Given the description of an element on the screen output the (x, y) to click on. 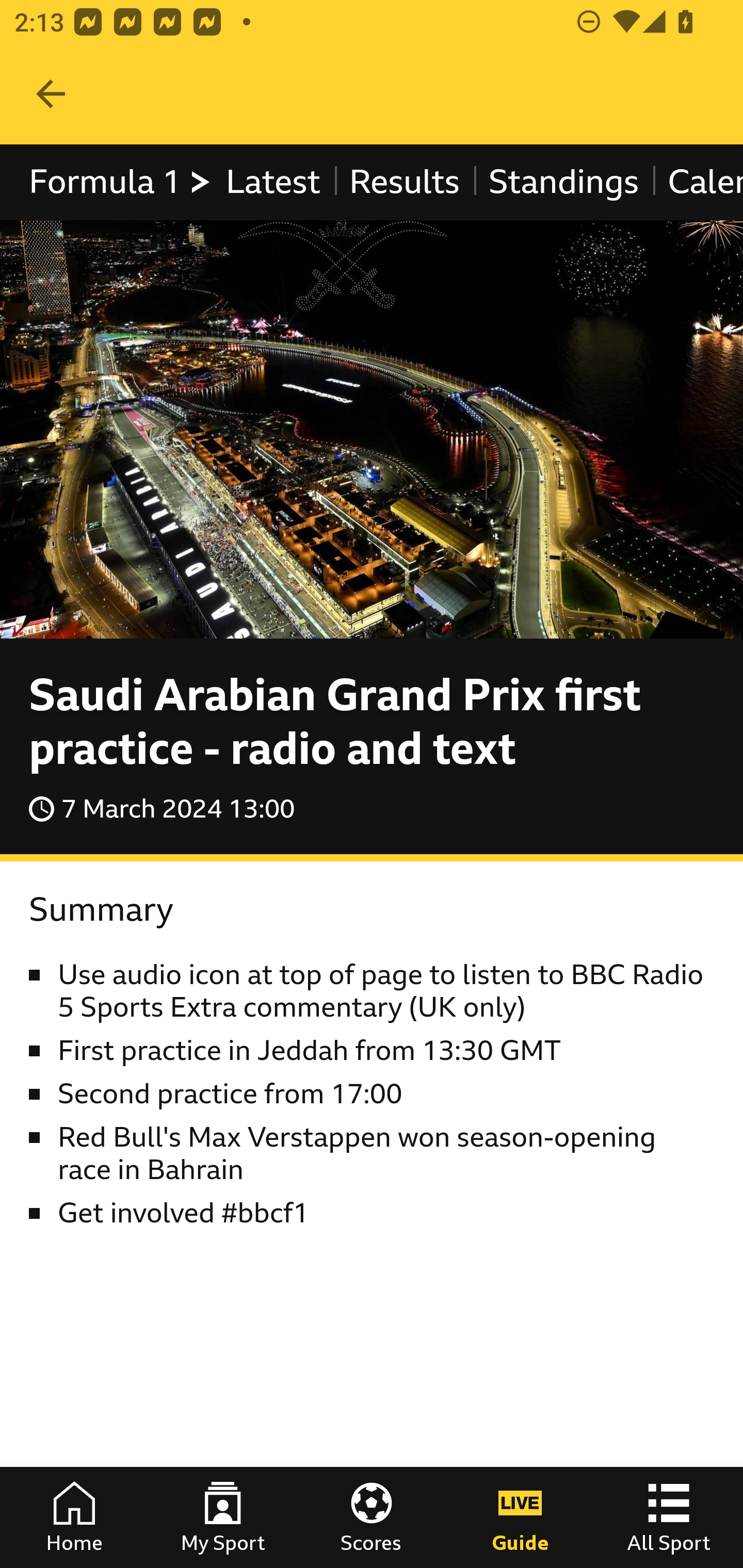
Navigate up (50, 93)
Formula 1  (120, 181)
Latest (272, 181)
Results (403, 181)
Standings (564, 181)
Calendar (697, 181)
Home (74, 1517)
My Sport (222, 1517)
Scores (371, 1517)
All Sport (668, 1517)
